Given the description of an element on the screen output the (x, y) to click on. 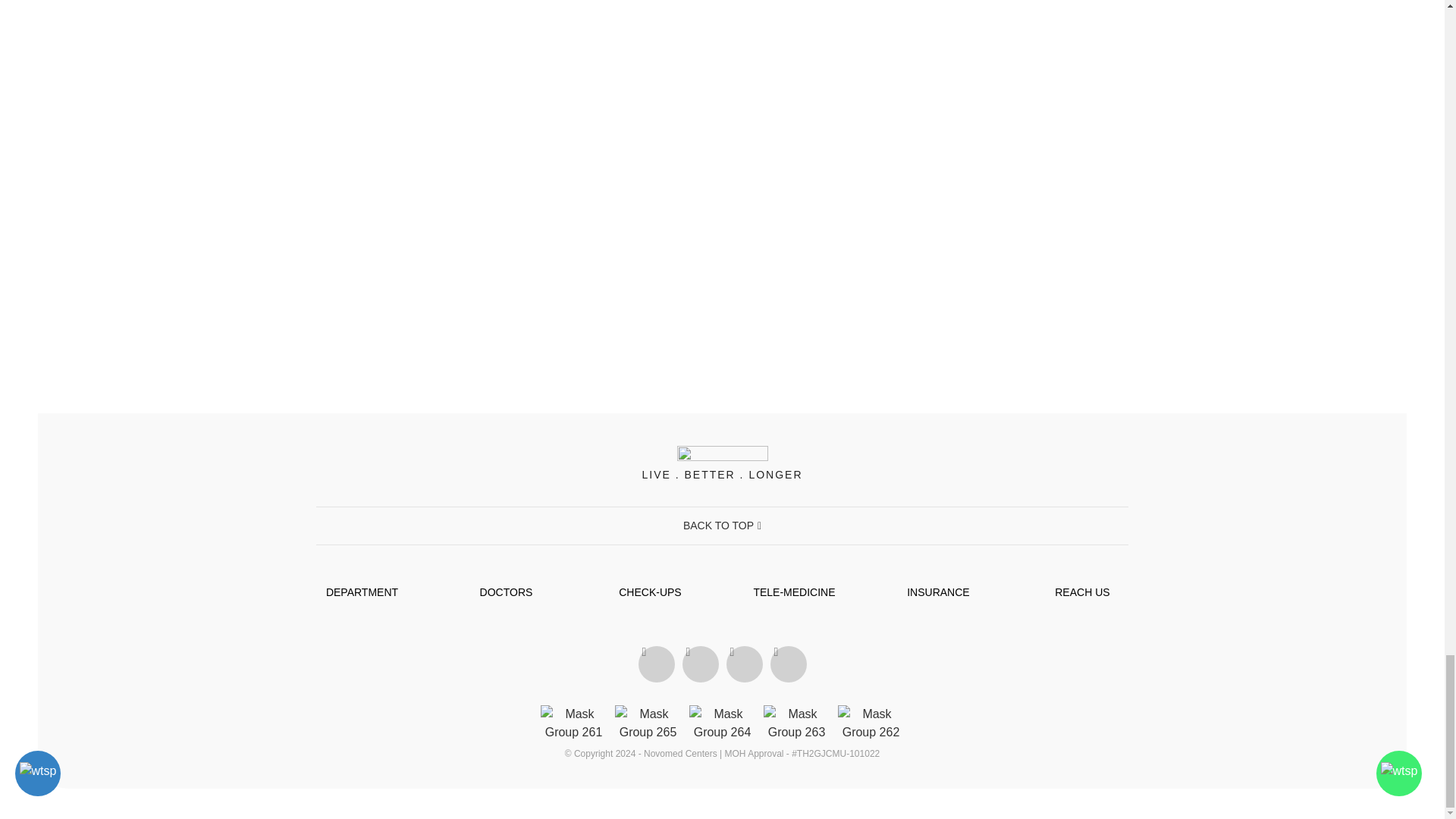
CHECK-UPS (649, 592)
INSURANCE (938, 592)
TELE-MEDICINE (793, 592)
DOCTORS (506, 592)
REACH US (1081, 592)
BACK TO TOP (721, 525)
DEPARTMENT (361, 592)
